Given the description of an element on the screen output the (x, y) to click on. 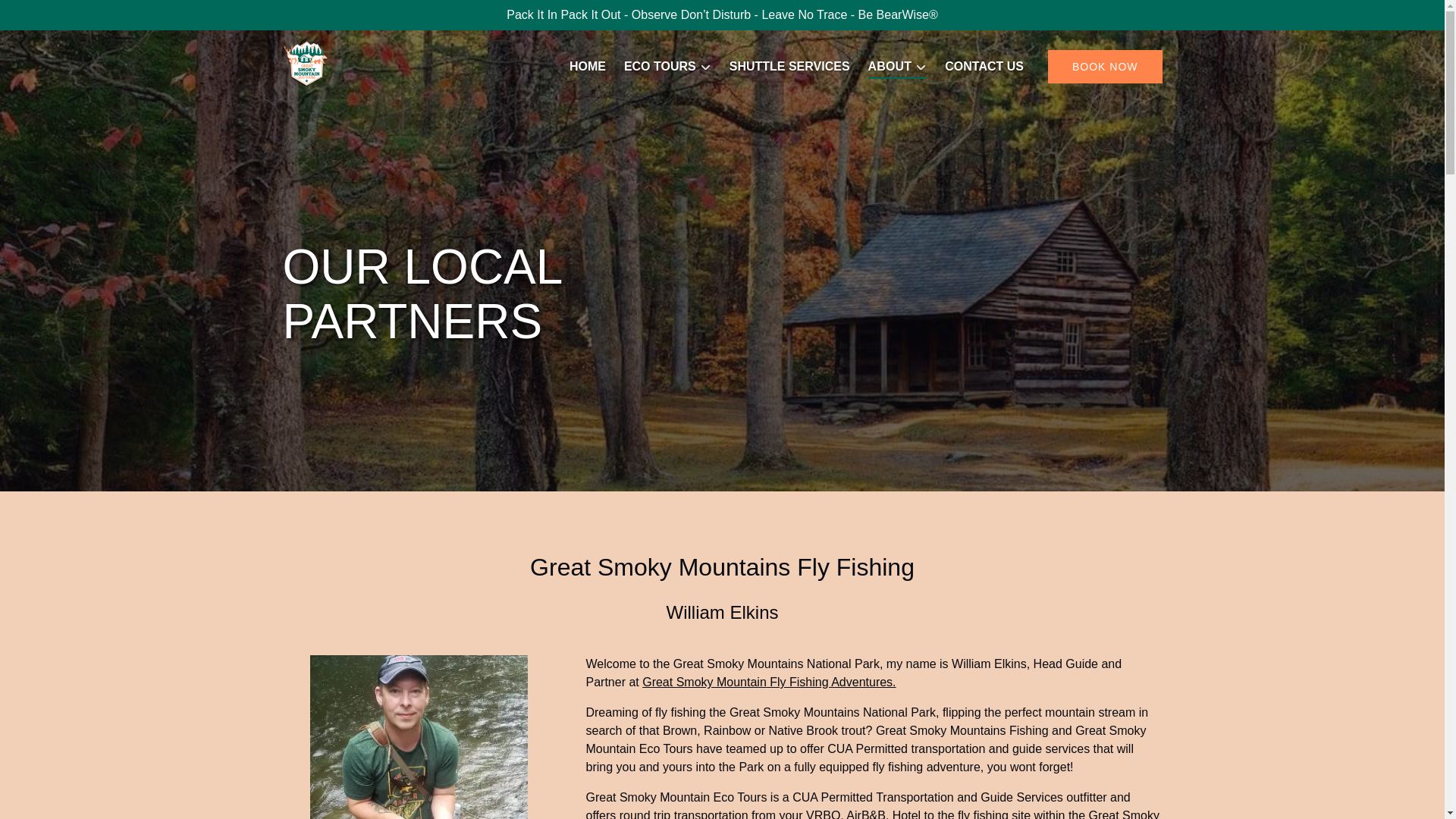
HOME (587, 66)
Great Smoky Mountain Fly Fishing Adventures. (768, 681)
Skip to footer (42, 16)
ABOUT (897, 66)
Skip to primary navigation (77, 16)
Open Eco Tours Menu (671, 62)
Skip to content (47, 16)
Open About Menu (901, 62)
ECO TOURS (667, 66)
CONTACT US (984, 66)
